Given the description of an element on the screen output the (x, y) to click on. 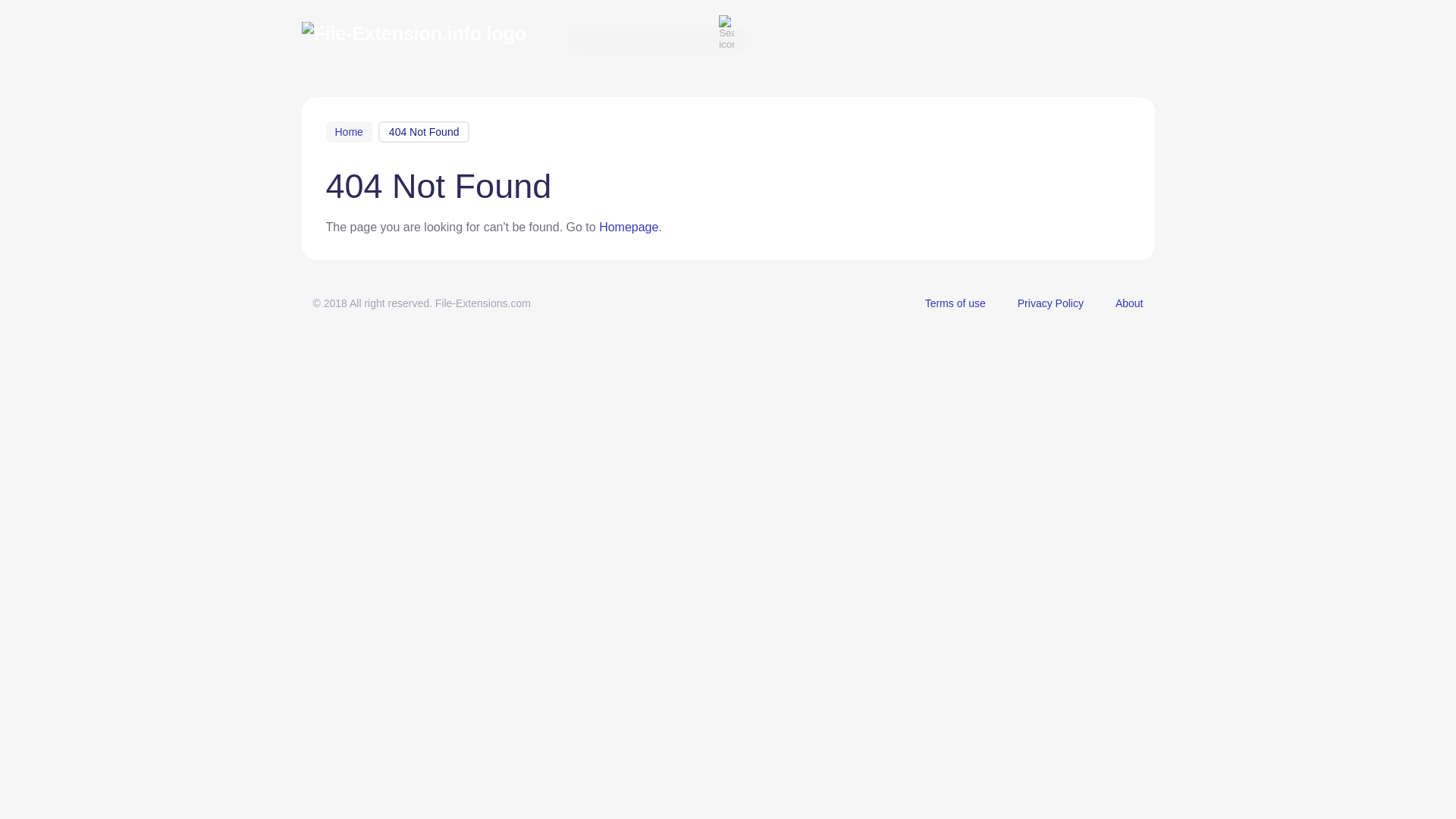
Home (349, 131)
About (1128, 303)
Homepage (628, 226)
Privacy Policy (1050, 303)
Terms of use (954, 303)
